Given the description of an element on the screen output the (x, y) to click on. 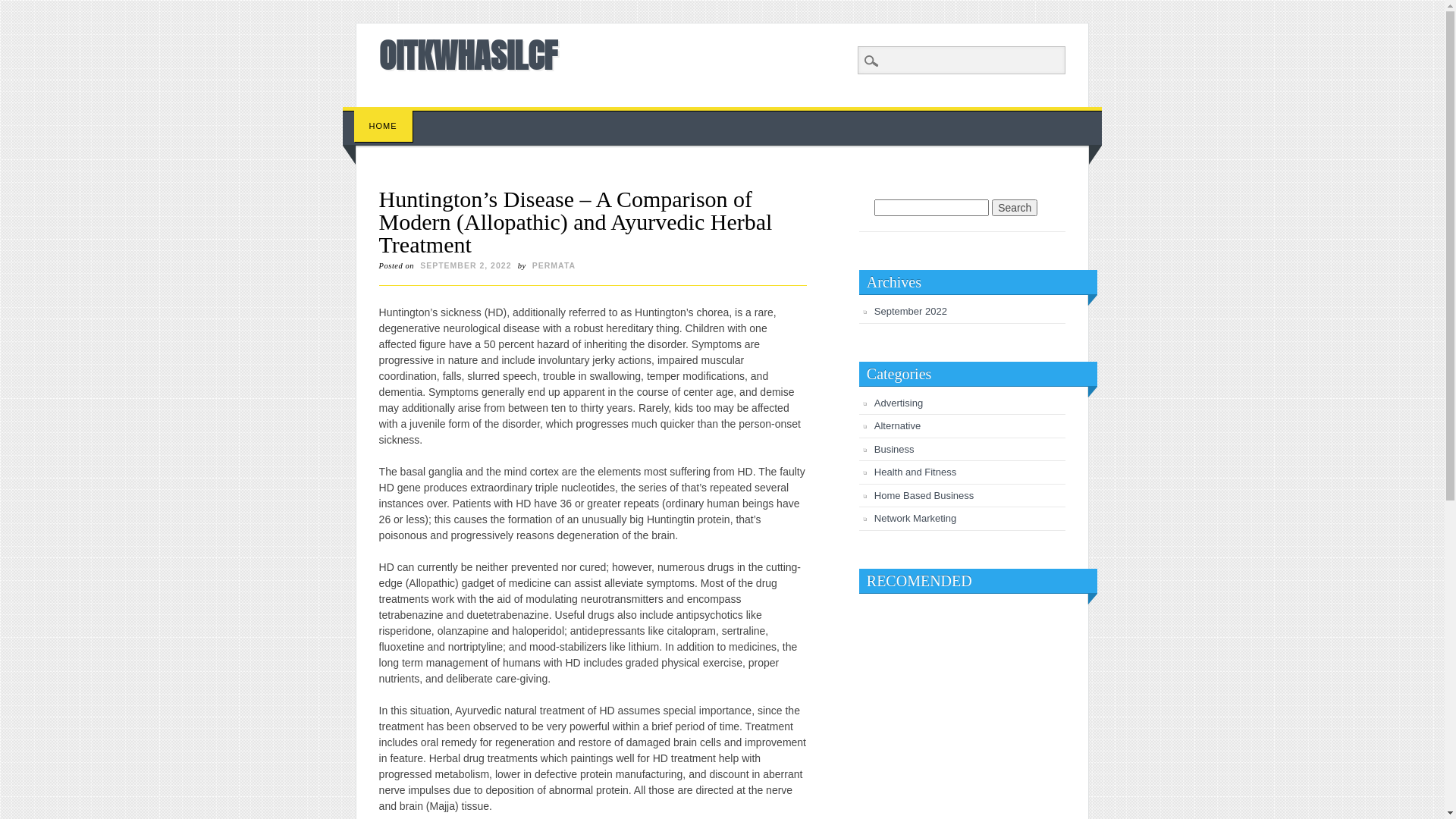
Advertising Element type: text (898, 402)
Health and Fitness Element type: text (915, 471)
PERMATA Element type: text (553, 264)
September 2022 Element type: text (910, 310)
SEPTEMBER 2, 2022 Element type: text (465, 264)
Business Element type: text (894, 449)
Skip to content Element type: text (377, 114)
Search Element type: text (22, 8)
OITKWHASILCF Element type: text (468, 55)
HOME Element type: text (383, 125)
Network Marketing Element type: text (915, 518)
Alternative Element type: text (897, 425)
Home Based Business Element type: text (924, 495)
Search Element type: text (1014, 207)
